Given the description of an element on the screen output the (x, y) to click on. 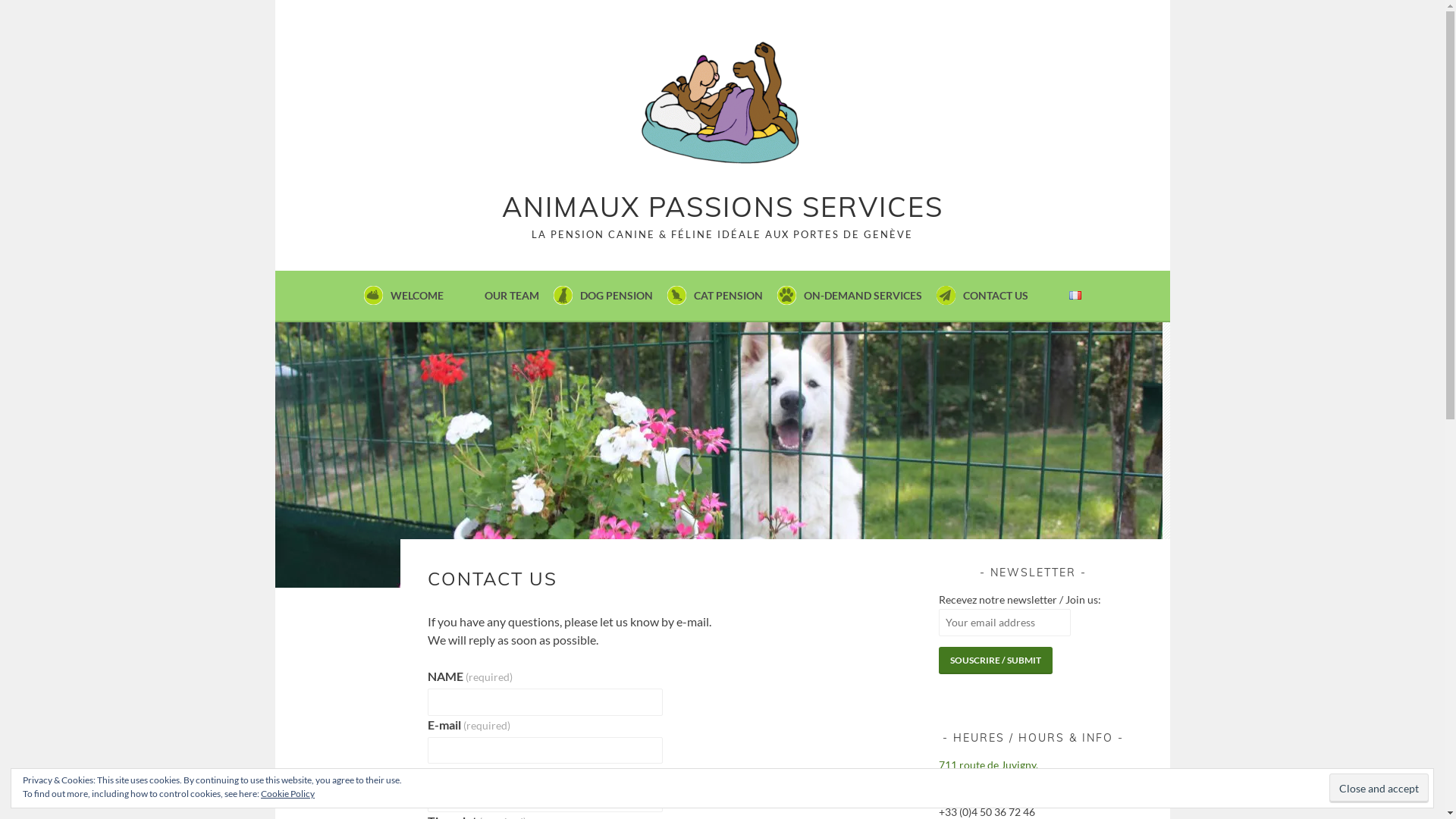
CONTACT US Element type: text (995, 295)
Close and accept Element type: text (1378, 788)
Souscrire / Submit Element type: text (995, 660)
WELCOME Element type: text (415, 295)
CAT PENSION Element type: text (727, 295)
ON-DEMAND SERVICES Element type: text (862, 295)
Cookie Policy Element type: text (287, 793)
OUR TEAM Element type: text (510, 295)
711 route de Juvigny,
74380 Cranves-Sales Element type: text (988, 773)
DOG PENSION Element type: text (615, 295)
ANIMAUX PASSIONS SERVICES Element type: text (722, 206)
